Given the description of an element on the screen output the (x, y) to click on. 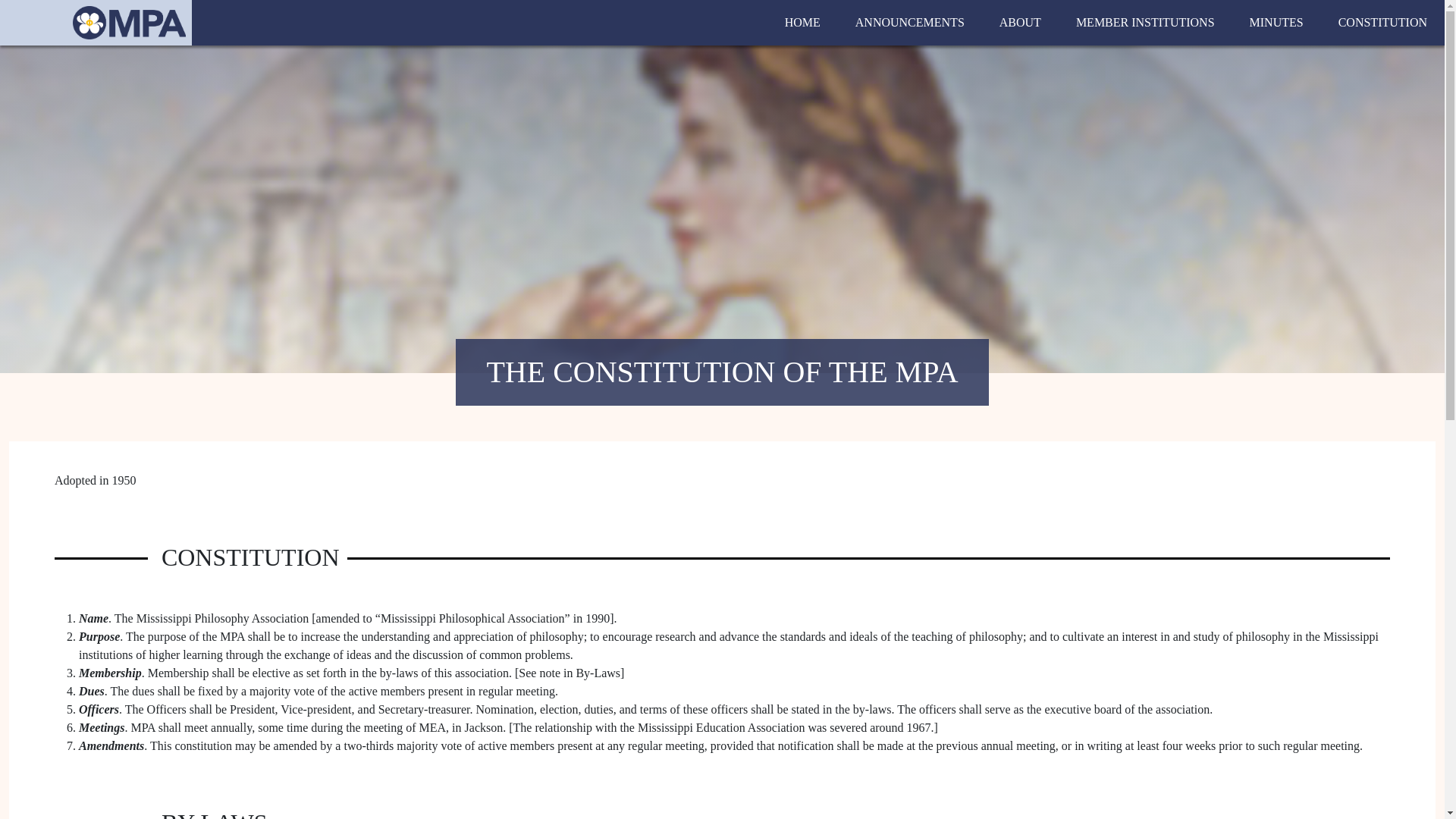
Constitution (1382, 22)
About (1019, 22)
Announcements (909, 22)
ANNOUNCEMENTS (909, 22)
Home (802, 22)
MEMBER INSTITUTIONS (1145, 22)
MINUTES (1275, 22)
ABOUT (1019, 22)
HOME (802, 22)
